Given the description of an element on the screen output the (x, y) to click on. 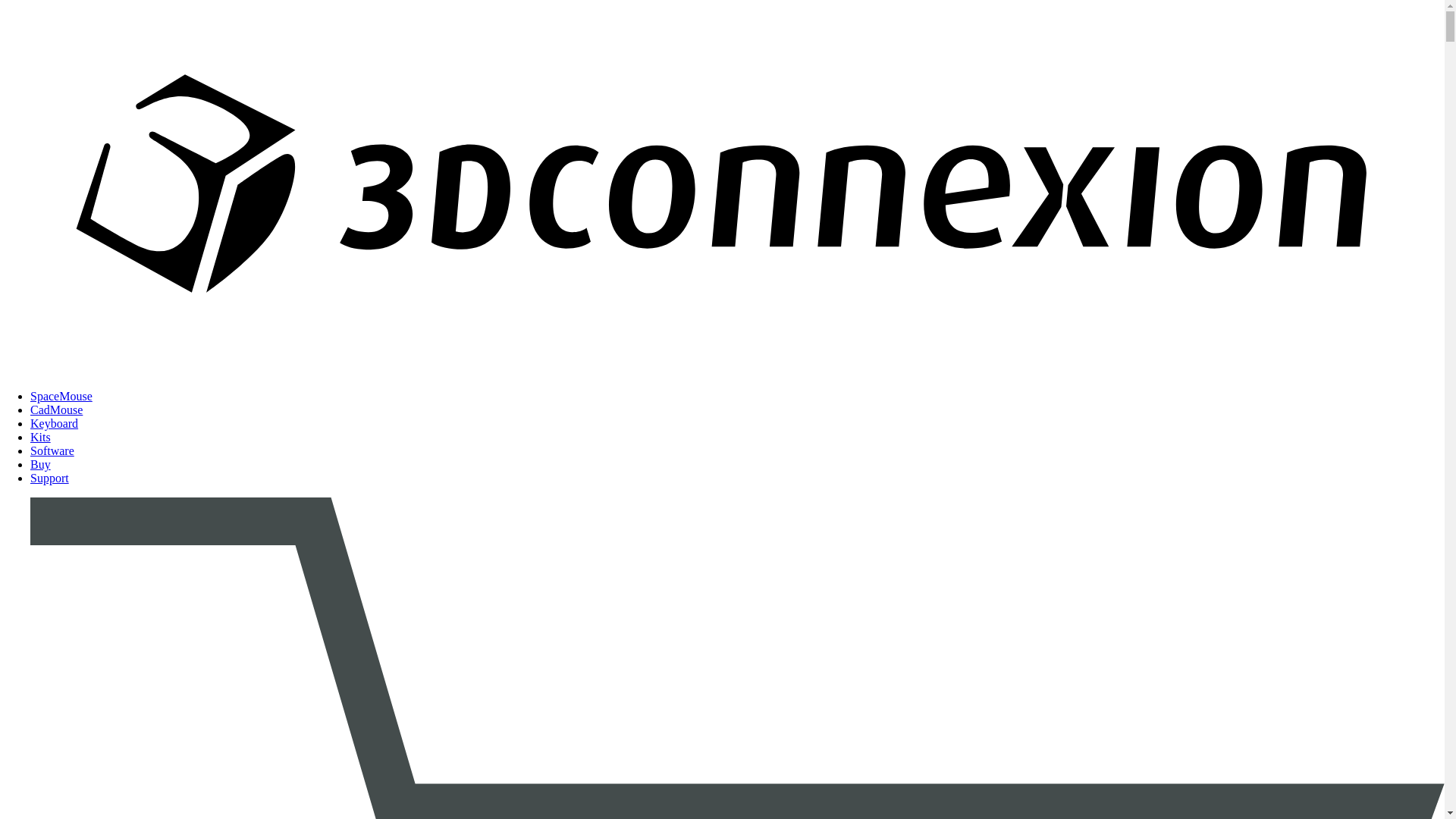
Software Element type: text (52, 450)
Buy Element type: text (40, 464)
Kits Element type: text (40, 436)
Keyboard Element type: text (54, 423)
Support Element type: text (49, 477)
SpaceMouse Element type: text (61, 395)
CadMouse Element type: text (56, 409)
